Given the description of an element on the screen output the (x, y) to click on. 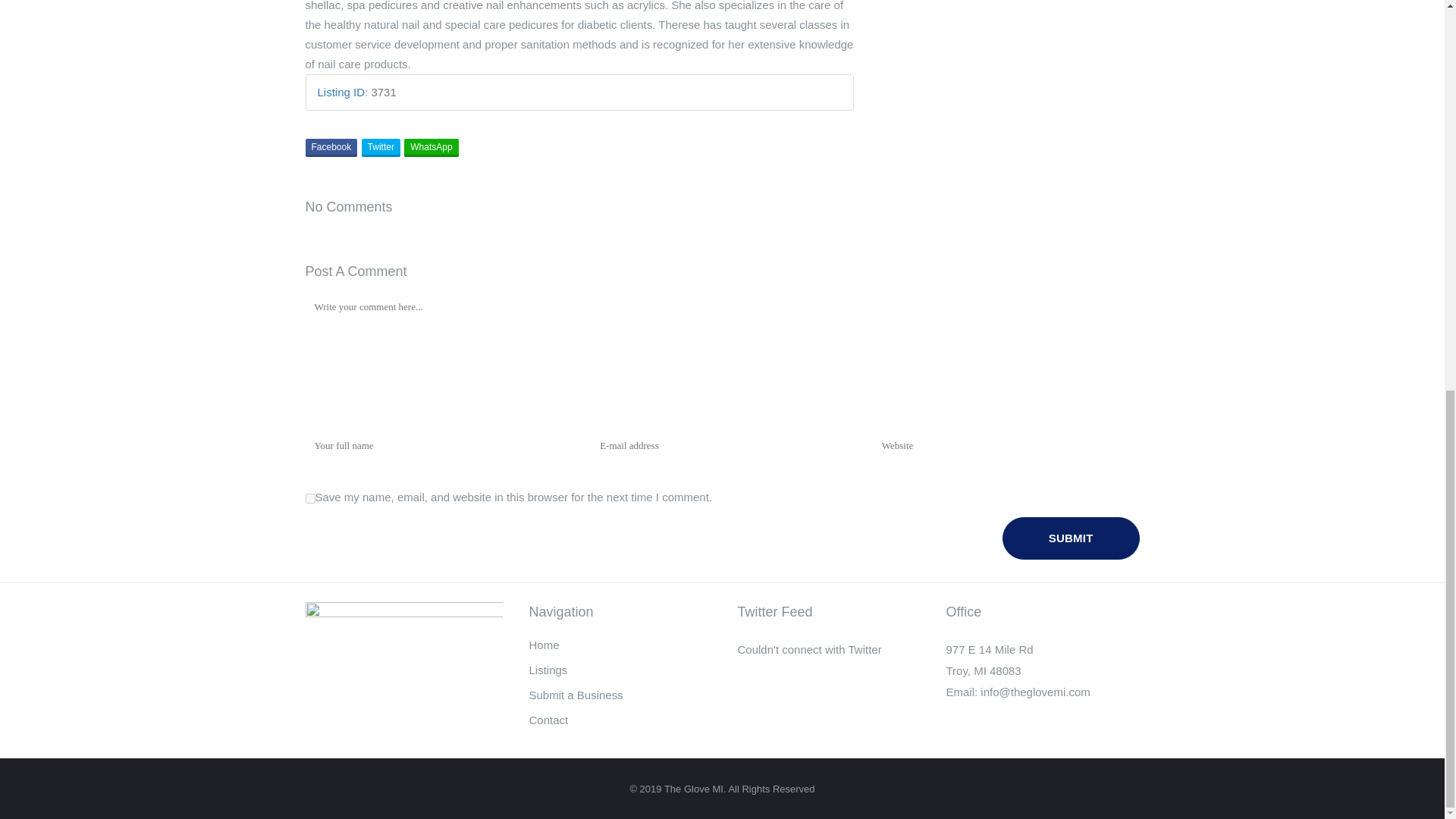
Contact (621, 720)
Home (621, 645)
Twitter (380, 147)
Submit a Business (621, 695)
Submit (1071, 537)
yes (309, 498)
WhatsApp (431, 147)
Facebook (330, 147)
Submit (1071, 537)
Listings (621, 670)
